Given the description of an element on the screen output the (x, y) to click on. 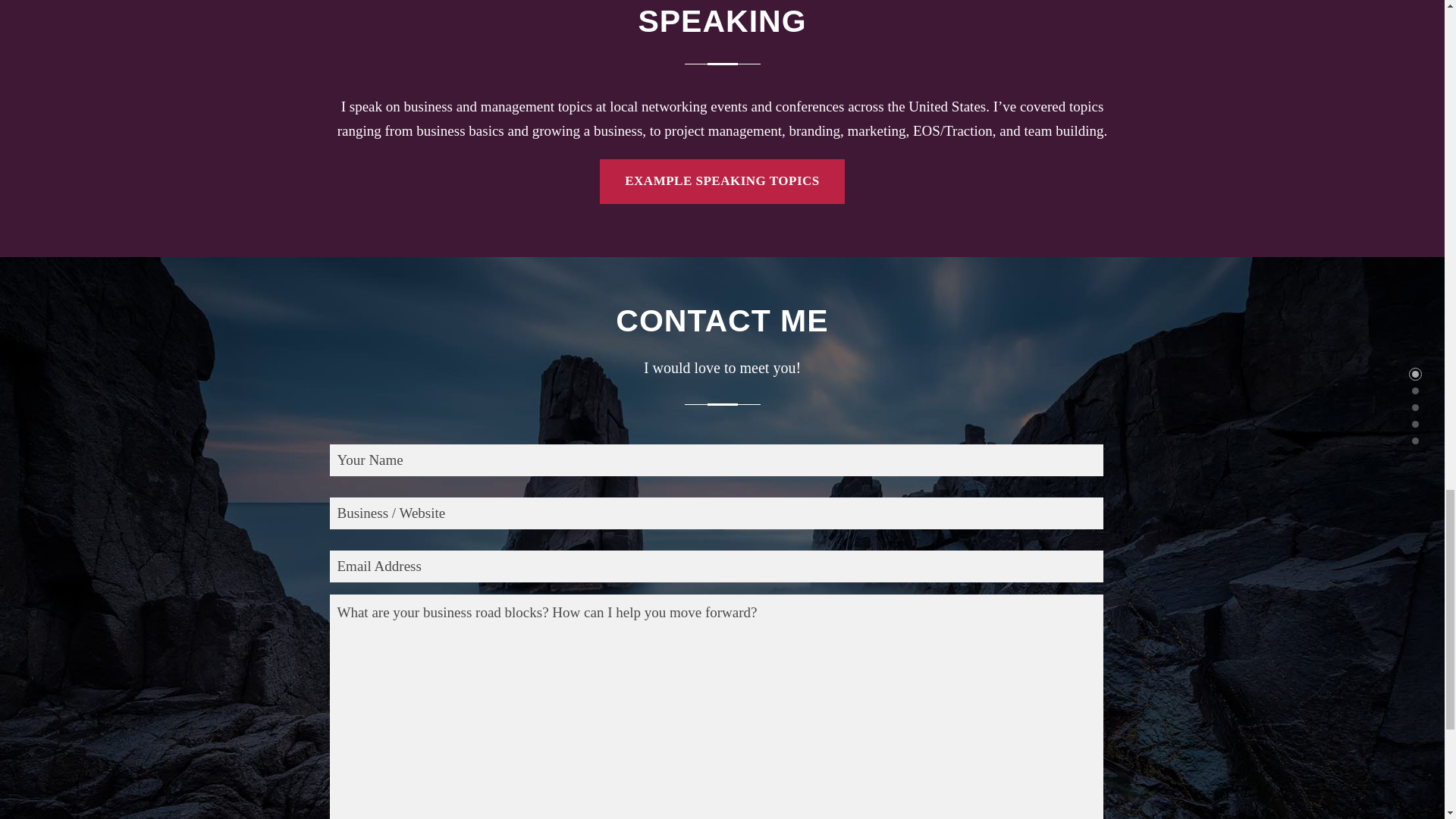
EXAMPLE SPEAKING TOPICS (721, 181)
